Given the description of an element on the screen output the (x, y) to click on. 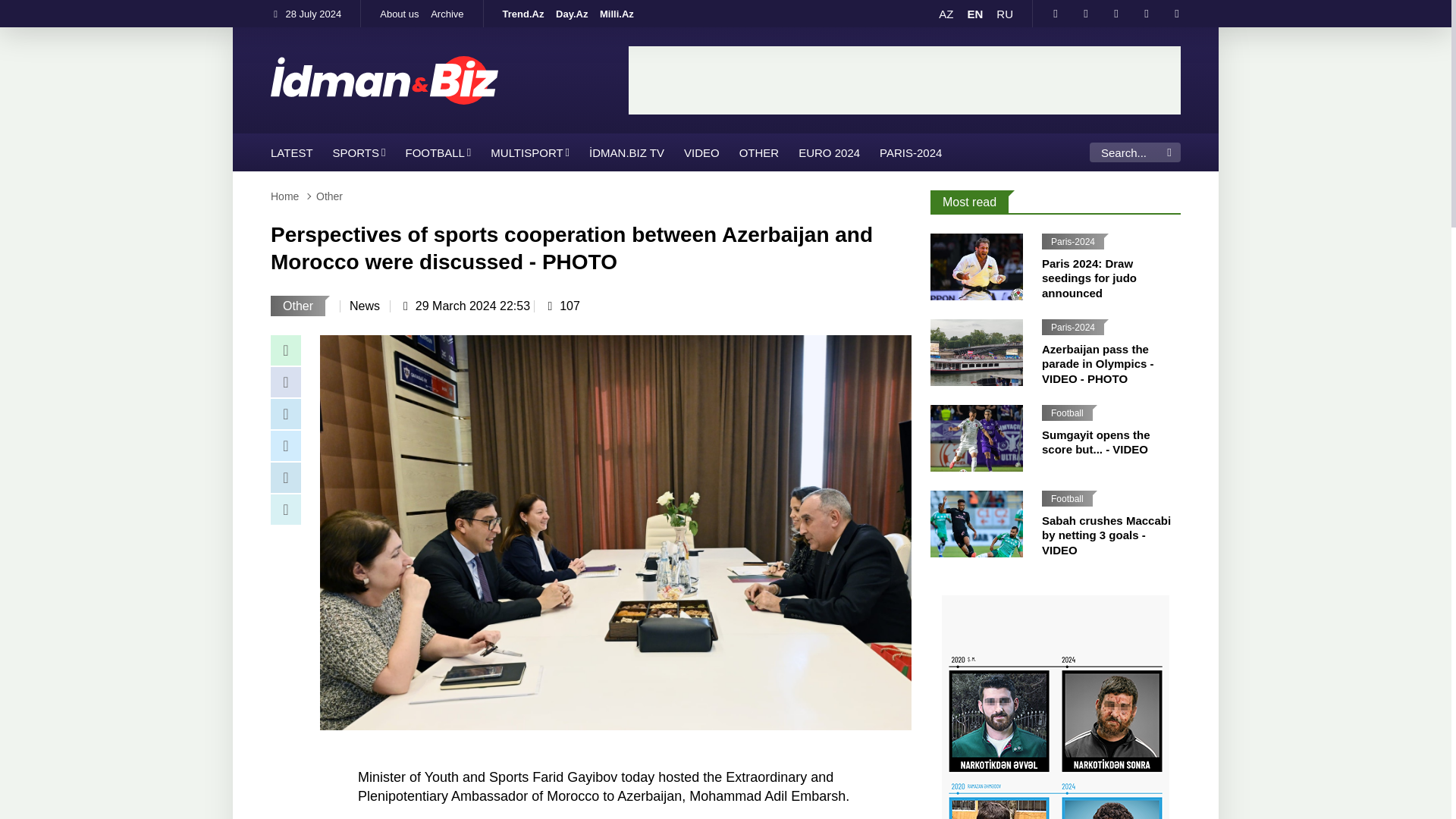
3rd party ad content (904, 79)
Archive (446, 13)
Trend.Az (523, 13)
Milli.Az (617, 13)
RU (1004, 13)
LATEST (291, 151)
Day.Az (571, 13)
About us (399, 13)
AZ (945, 13)
EN (974, 13)
